Given the description of an element on the screen output the (x, y) to click on. 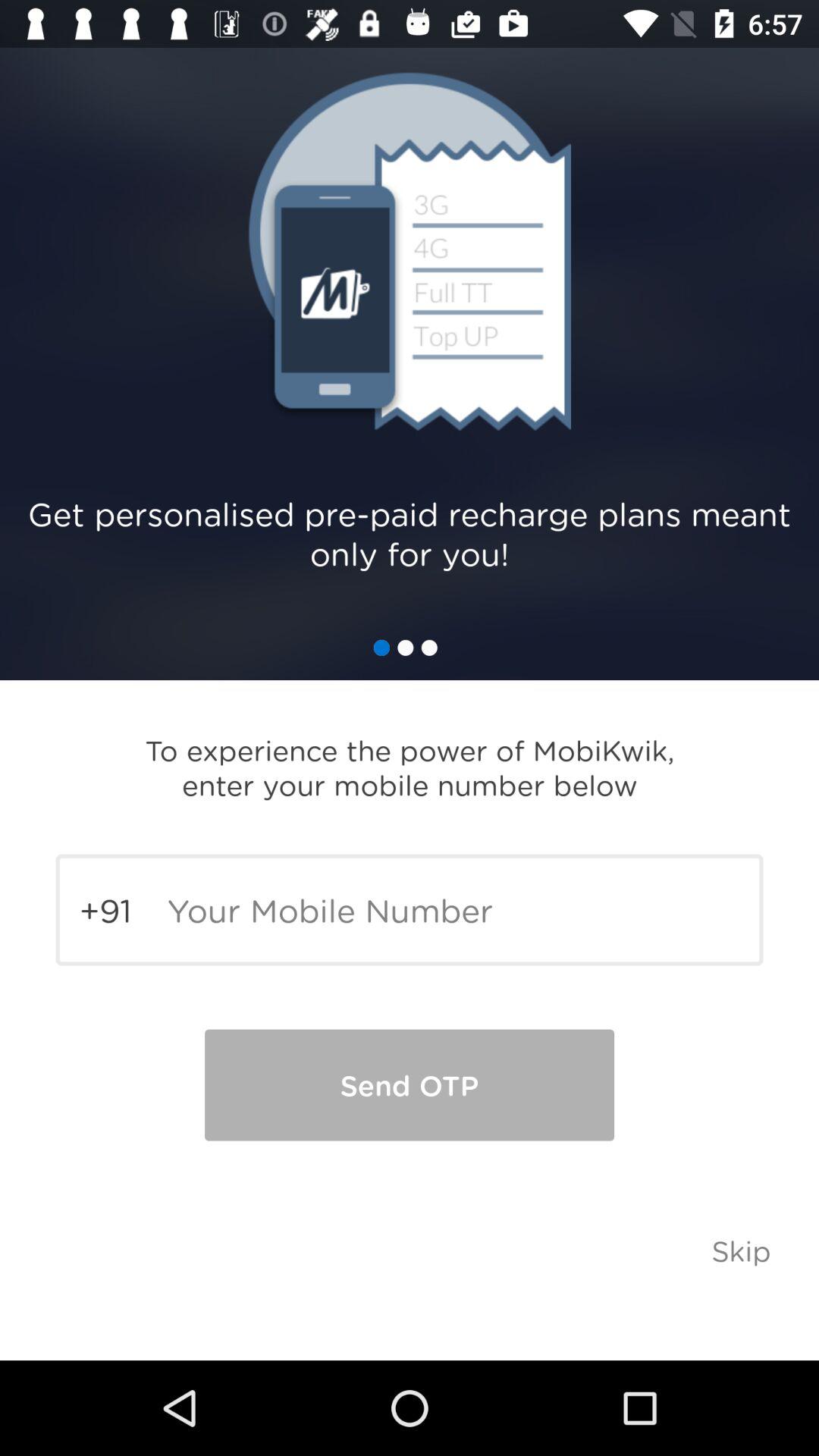
jump until the skip (741, 1250)
